Given the description of an element on the screen output the (x, y) to click on. 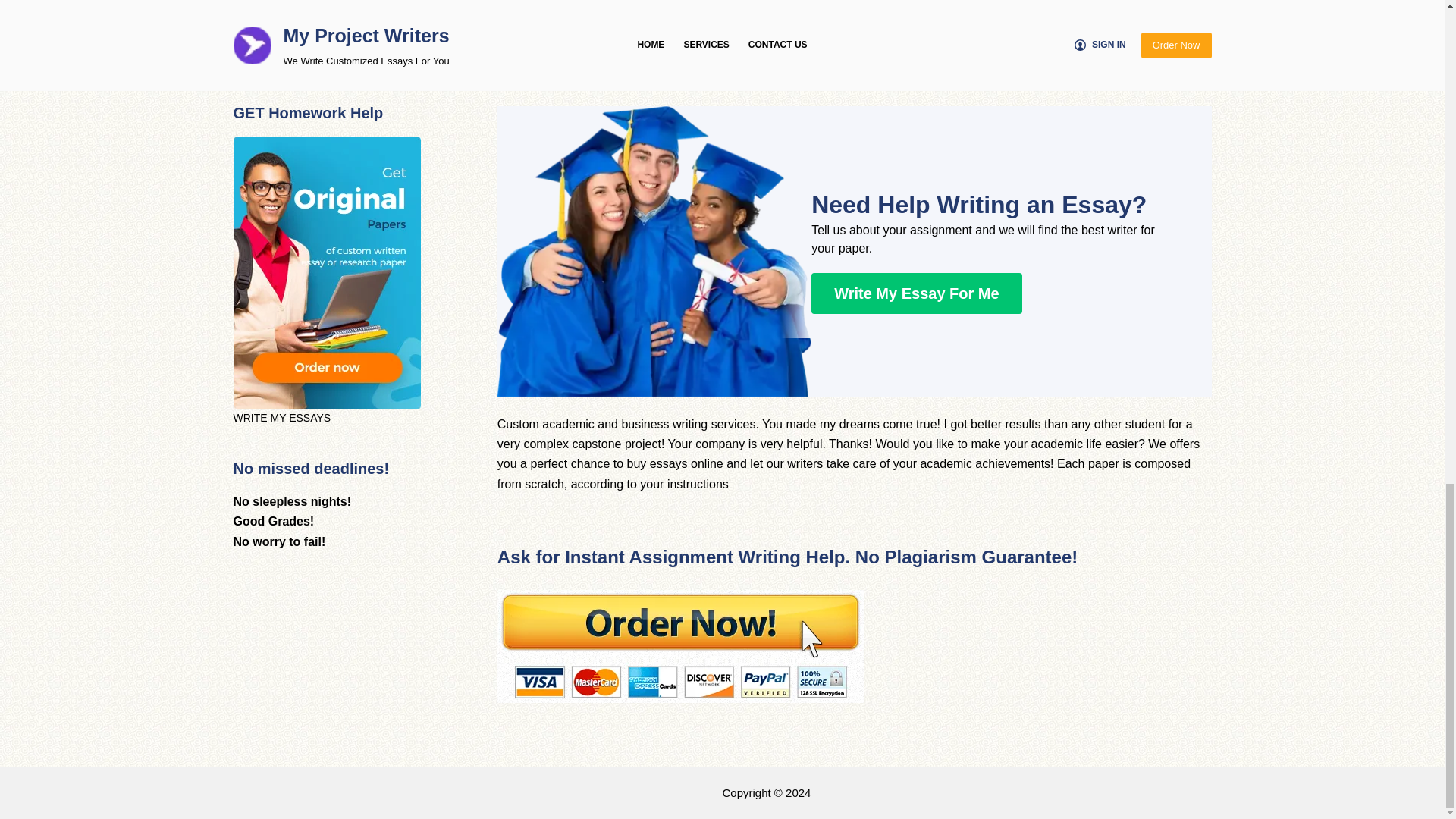
Write My Essay For Me (916, 292)
